Given the description of an element on the screen output the (x, y) to click on. 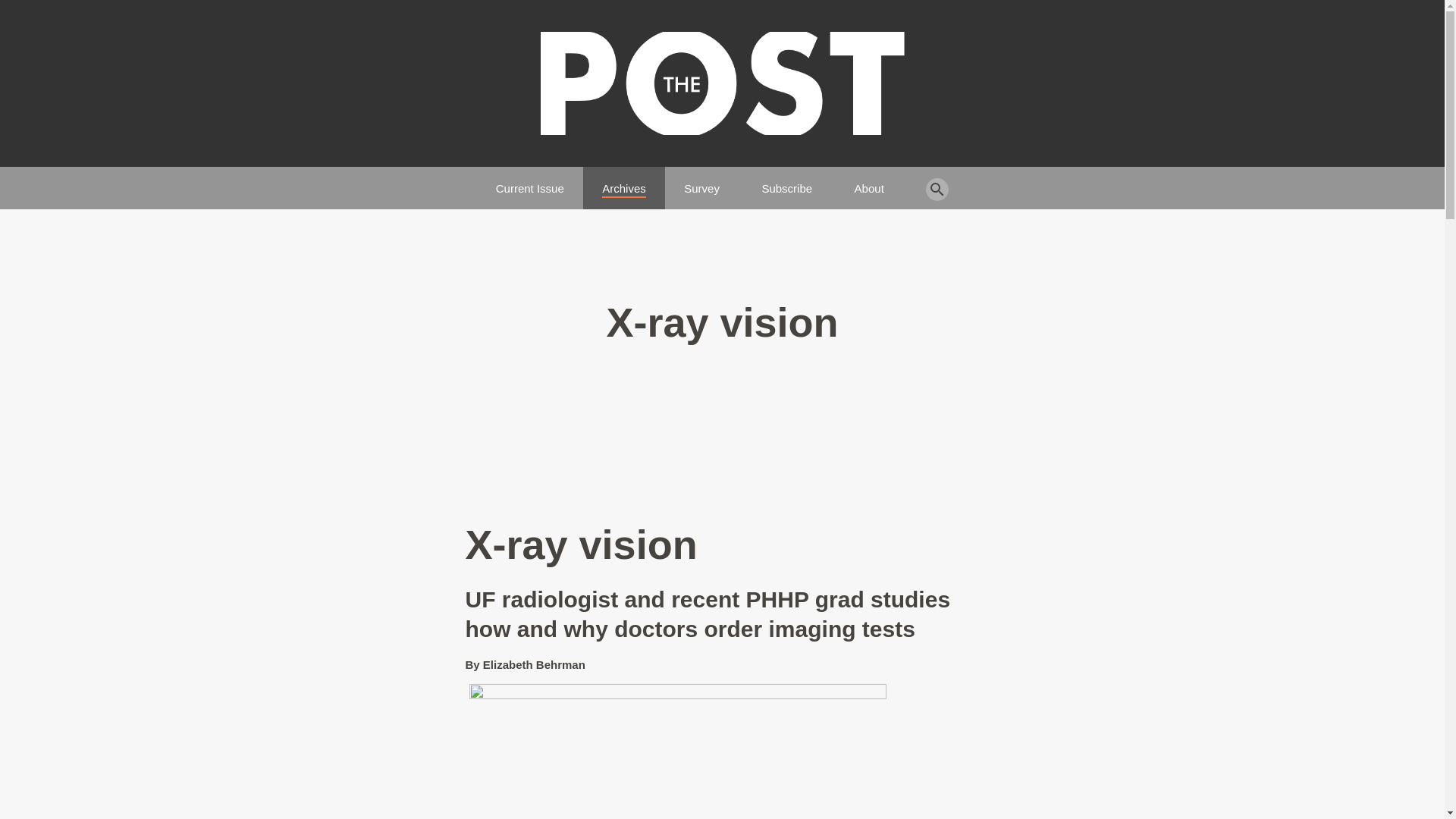
The POST - Home (722, 83)
Survey (701, 182)
Subscribe (786, 182)
Current Issue (530, 182)
About (868, 182)
Archives (624, 182)
